Given the description of an element on the screen output the (x, y) to click on. 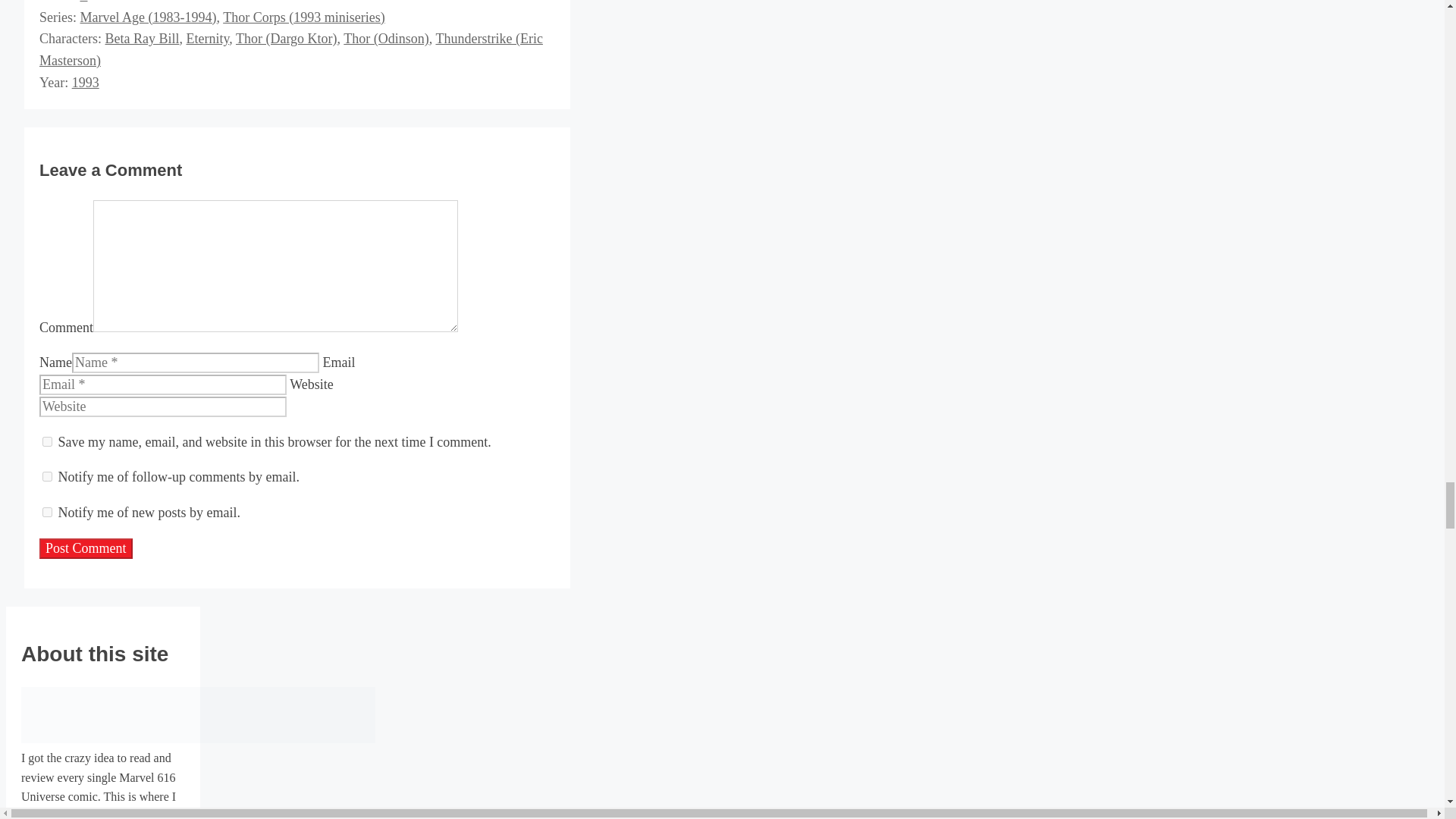
yes (47, 441)
Post Comment (85, 548)
Eternity (207, 38)
Beta Ray Bill (141, 38)
subscribe (47, 476)
1993 (85, 82)
subscribe (47, 511)
Post Comment (85, 548)
